Given the description of an element on the screen output the (x, y) to click on. 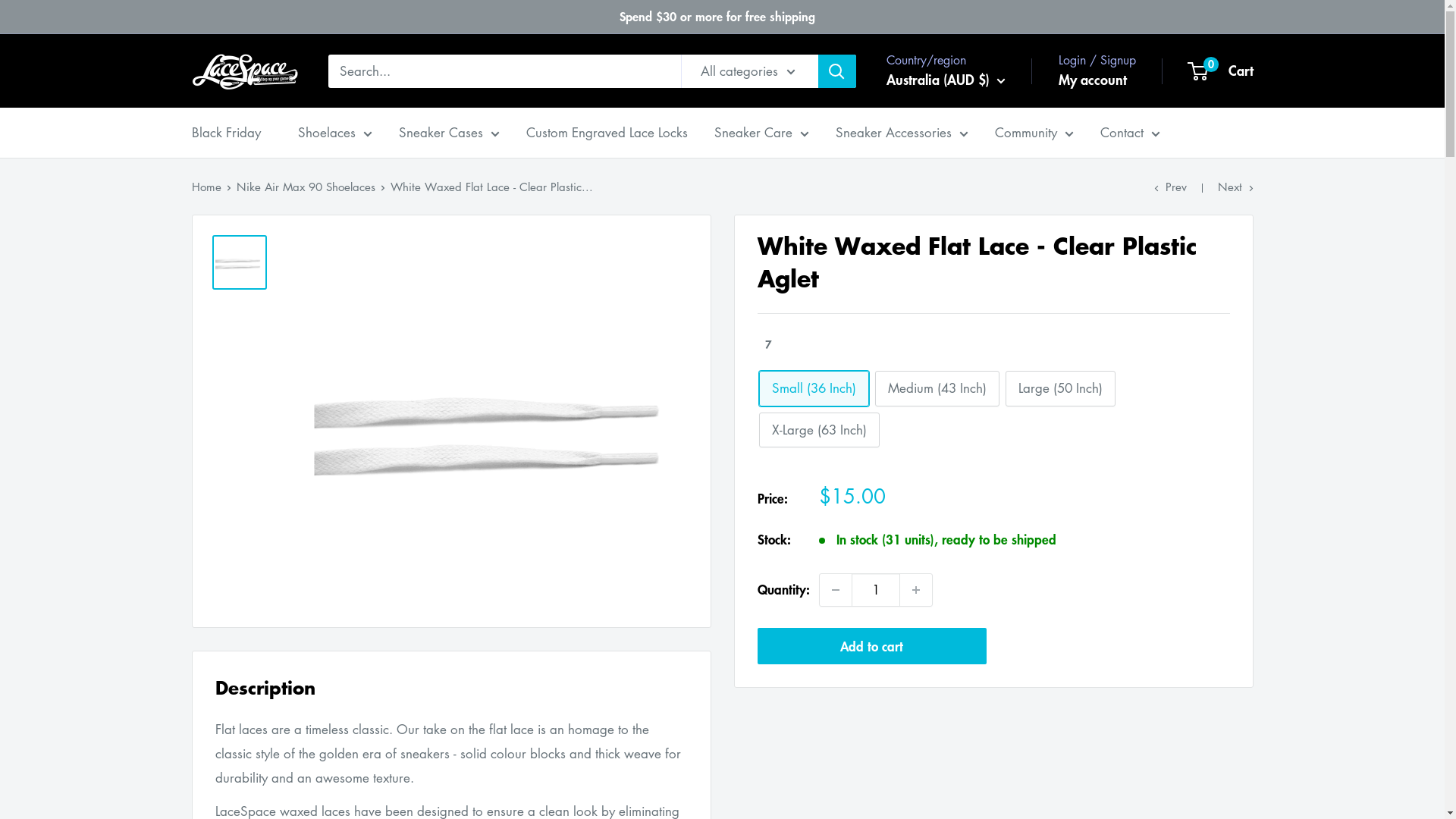
Custom Engraved Lace Locks Element type: text (606, 132)
AO Element type: text (870, 253)
Home Element type: text (205, 186)
AL Element type: text (870, 180)
AG Element type: text (870, 302)
Prev Element type: text (1170, 186)
BA Element type: text (870, 766)
Add to cart Element type: text (871, 645)
BJ Element type: text (870, 668)
Sneaker Cases Element type: text (448, 132)
0
Cart Element type: text (1221, 71)
Sneaker Accessories Element type: text (901, 132)
AC Element type: text (870, 400)
BT Element type: text (870, 717)
AR Element type: text (870, 327)
Increase quantity by 1 Element type: hover (915, 589)
AW Element type: text (870, 375)
AI Element type: text (870, 277)
Decrease quantity by 1 Element type: hover (834, 589)
Contact Element type: text (1129, 132)
Nike Air Max 90 Shoelaces Element type: text (305, 186)
Australia (AUD $) Element type: text (944, 80)
BW Element type: text (870, 790)
AU Element type: text (870, 424)
Sneaker Care Element type: text (761, 132)
BD Element type: text (870, 546)
AM Element type: text (870, 351)
BO Element type: text (870, 742)
DZ Element type: text (870, 205)
BZ Element type: text (870, 644)
AX Element type: text (870, 155)
BS Element type: text (870, 497)
LaceSpace Element type: text (244, 71)
Next Element type: text (1235, 186)
BH Element type: text (870, 522)
Community Element type: text (1033, 132)
AD Element type: text (870, 229)
AT Element type: text (870, 449)
BM Element type: text (870, 693)
Shoelaces Element type: text (334, 132)
My account Element type: text (1092, 80)
BY Element type: text (870, 595)
AF Element type: text (870, 131)
AZ Element type: text (870, 473)
BE Element type: text (870, 619)
BB Element type: text (870, 571)
